Given the description of an element on the screen output the (x, y) to click on. 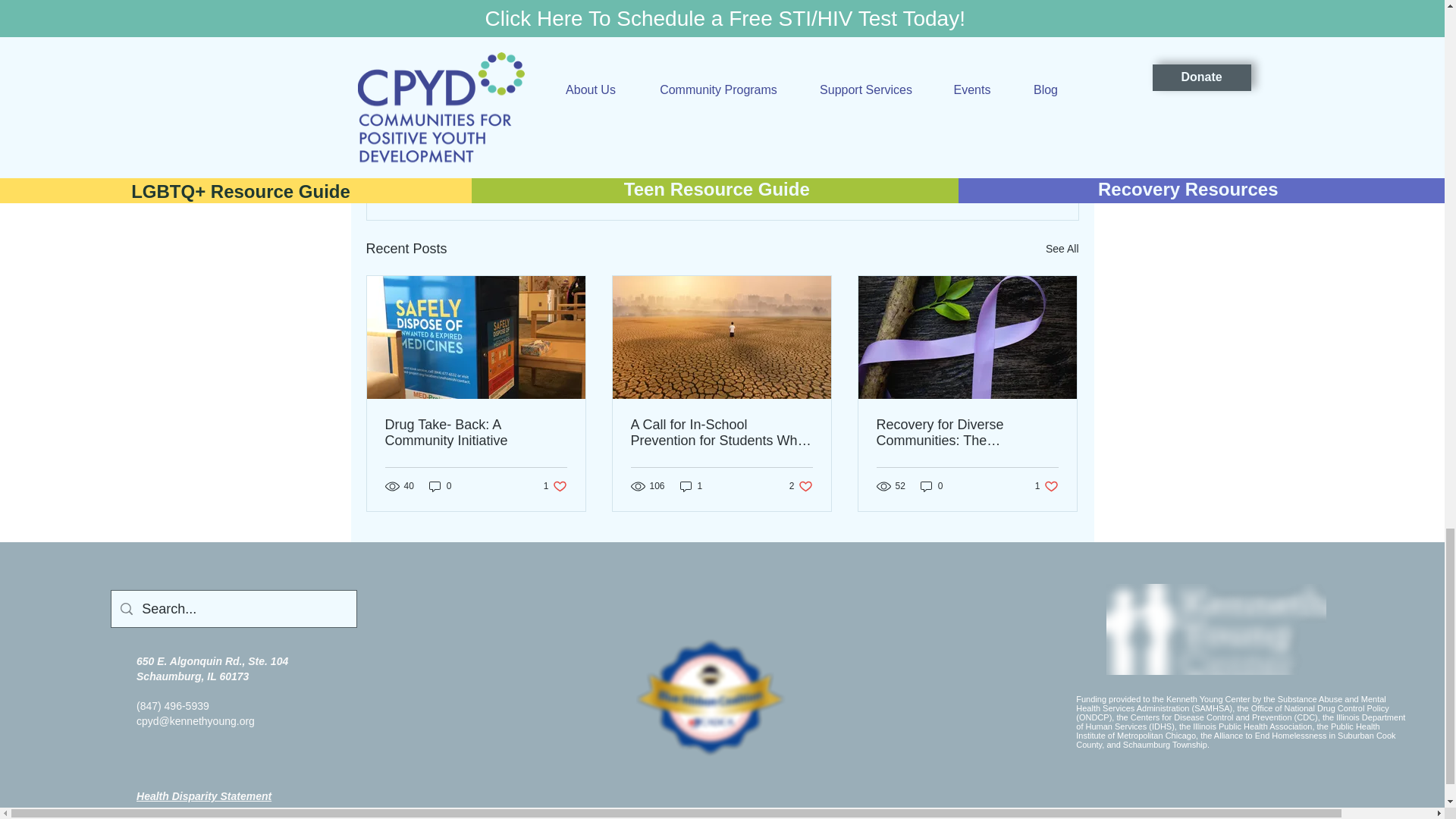
Sexual Health (911, 121)
Post not marked as liked (995, 166)
Drug Take- Back: A Community Initiative (555, 486)
0 (476, 432)
See All (440, 486)
